Given the description of an element on the screen output the (x, y) to click on. 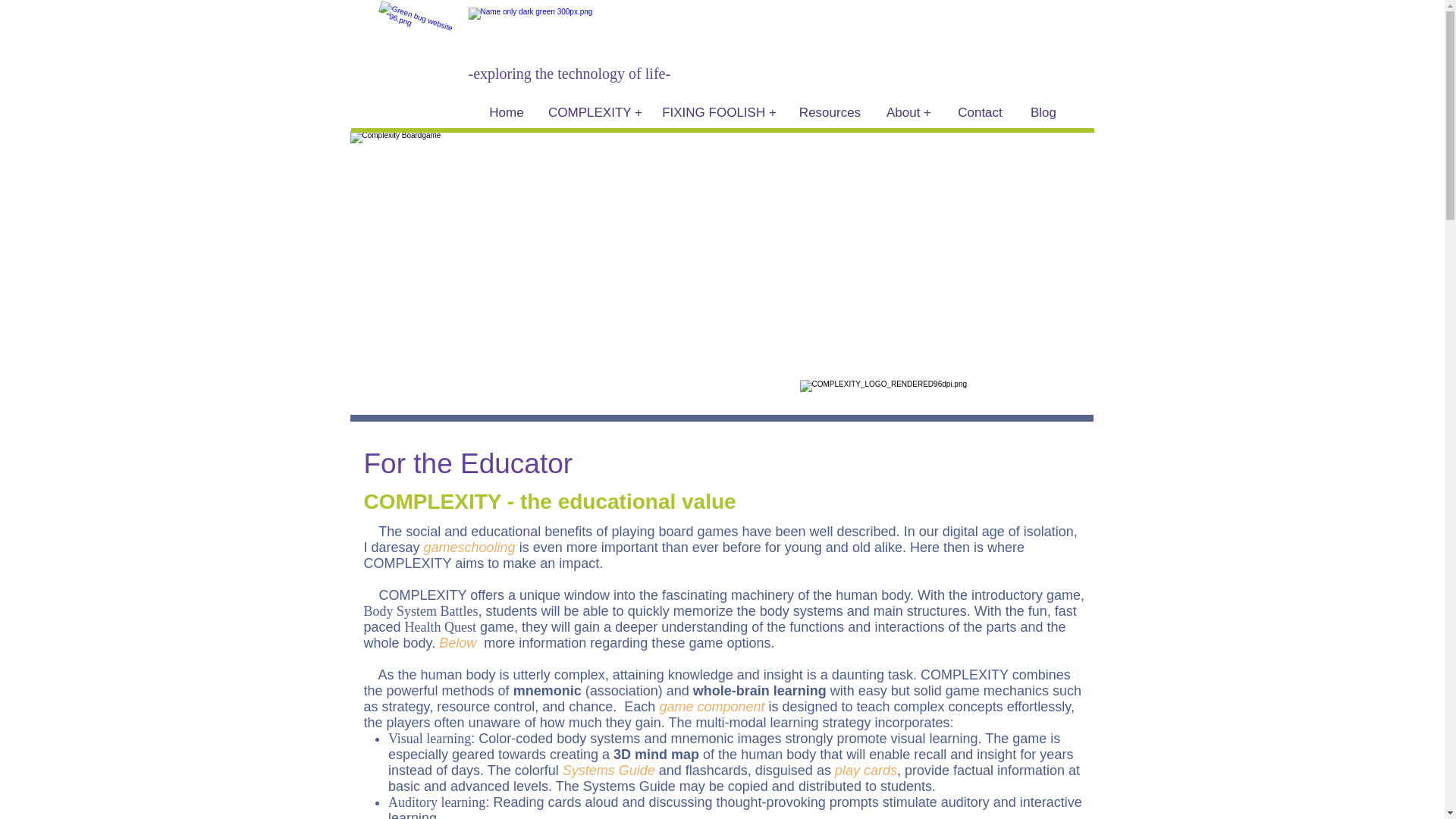
gameschooling (469, 547)
play cards (865, 770)
Systems Guide (608, 770)
Resources (829, 112)
Below (457, 642)
game component (711, 706)
Blog (1043, 112)
Home (505, 112)
COMPLEXITY (407, 563)
Contact (979, 112)
